Given the description of an element on the screen output the (x, y) to click on. 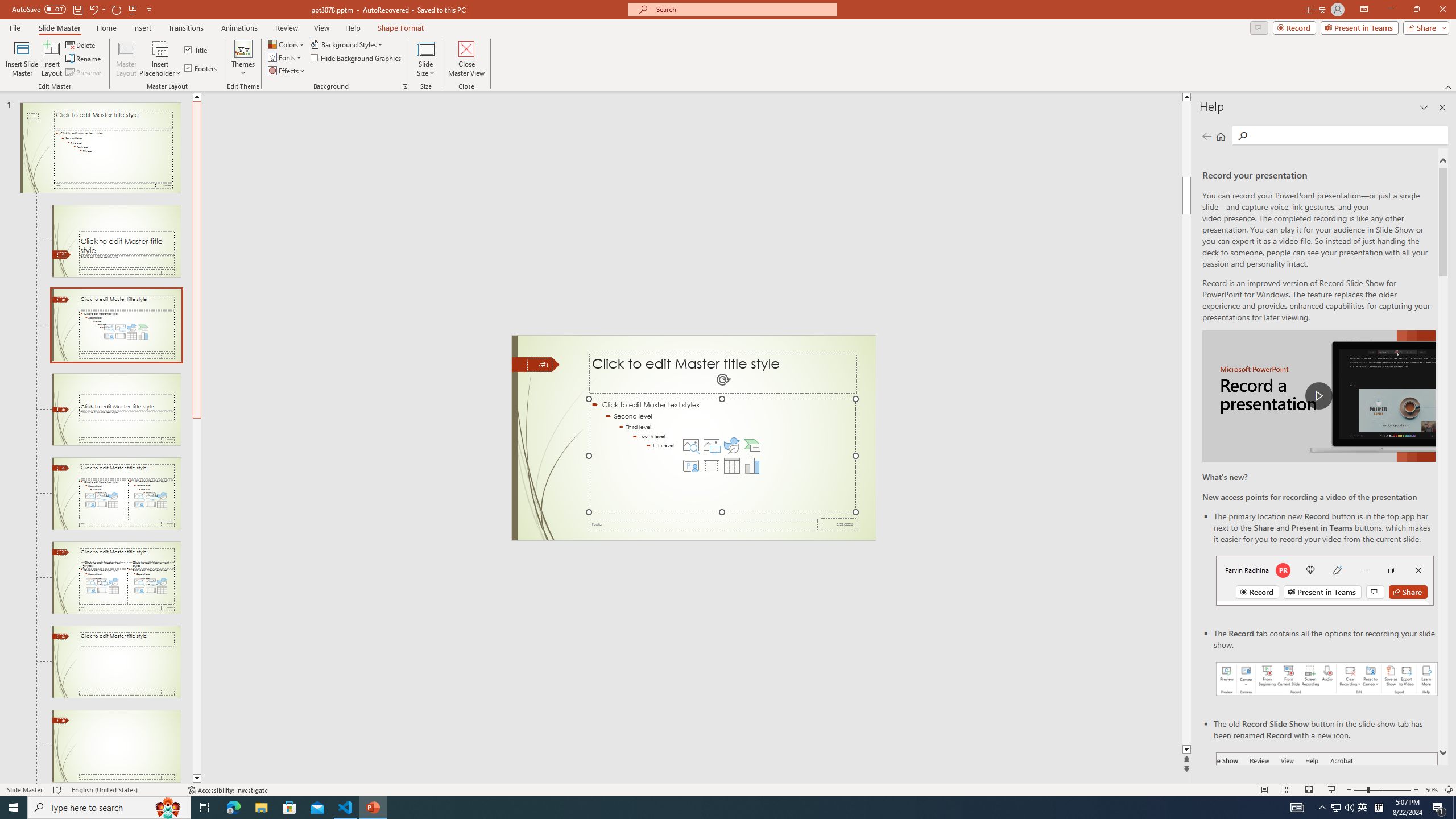
Hide Background Graphics (356, 56)
play Record a Presentation (1318, 395)
Insert Layout (51, 58)
Zoom 50% (1431, 790)
Footers (201, 67)
Accessibility Checker Accessibility: Investigate (228, 790)
Record button in top bar (1324, 580)
Delete (81, 44)
Insert Table (731, 466)
